Given the description of an element on the screen output the (x, y) to click on. 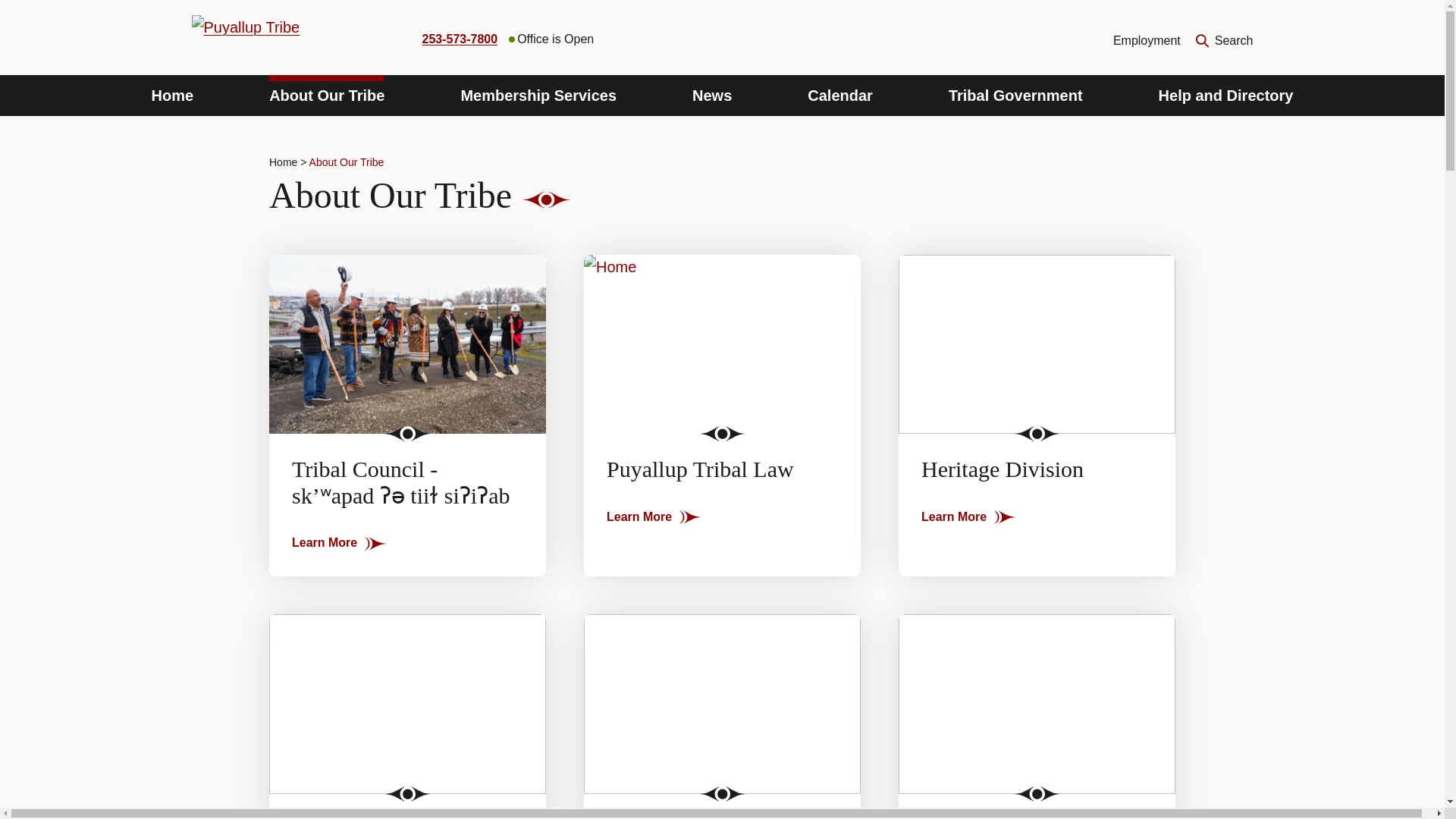
Home (172, 95)
Membership Services (537, 95)
Employment (1146, 40)
Search (1224, 40)
About Our Tribe (326, 95)
Go to Puyallup Tribe. (283, 162)
253-573-7800 (459, 38)
Puyallup Tribe (287, 39)
